Given the description of an element on the screen output the (x, y) to click on. 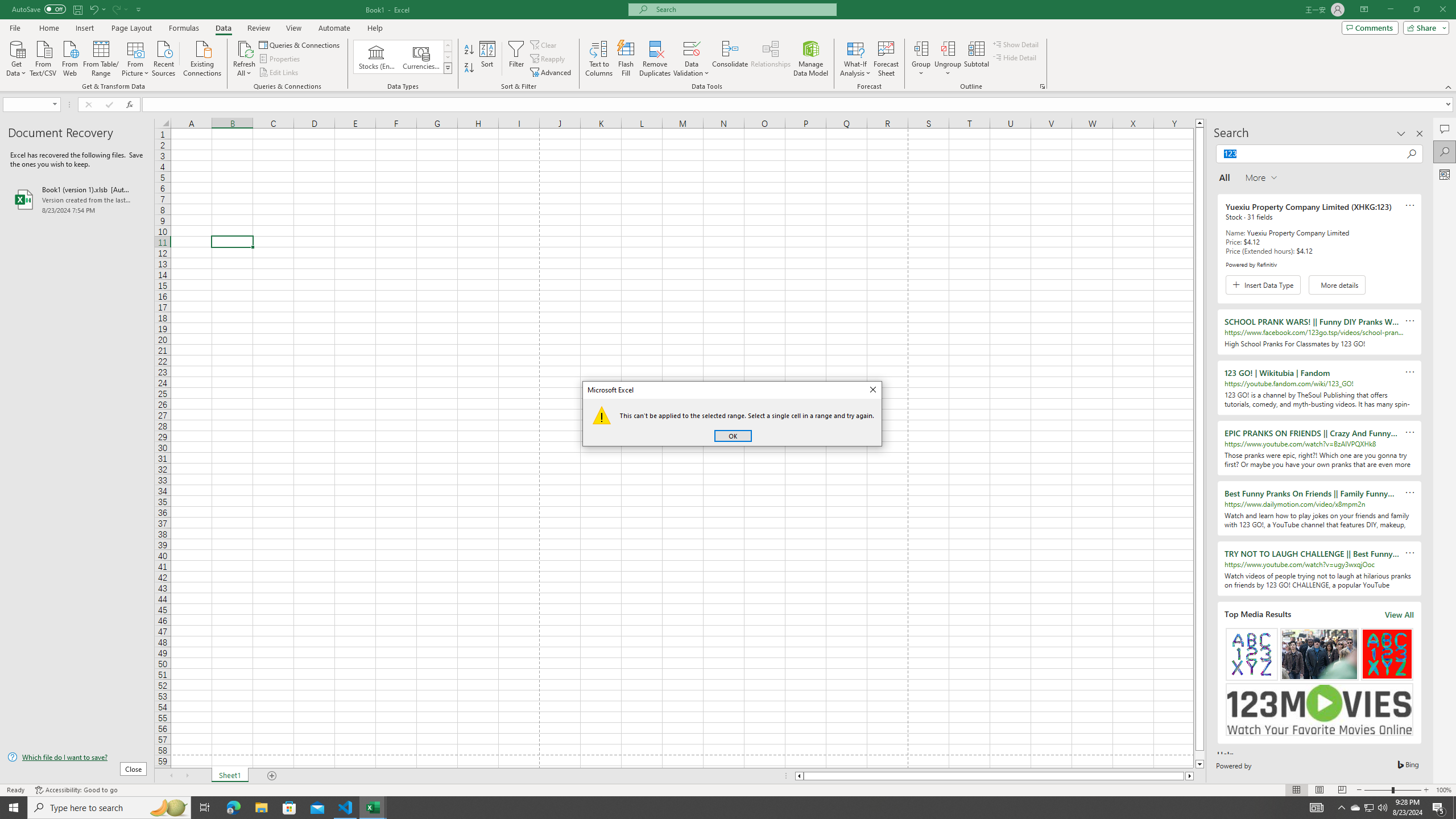
OK (732, 435)
Recent Sources (163, 57)
Group... (921, 48)
Customize Quick Access Toolbar (139, 9)
Restore Down (1416, 9)
Search (1444, 151)
Ungroup... (947, 48)
Microsoft Edge (233, 807)
System (6, 6)
Task View (204, 807)
Book1 (version 1).xlsb  [AutoRecovered] (77, 199)
Accessibility Checker Accessibility: Good to go (76, 790)
Close (872, 389)
Add Sheet (272, 775)
